Given the description of an element on the screen output the (x, y) to click on. 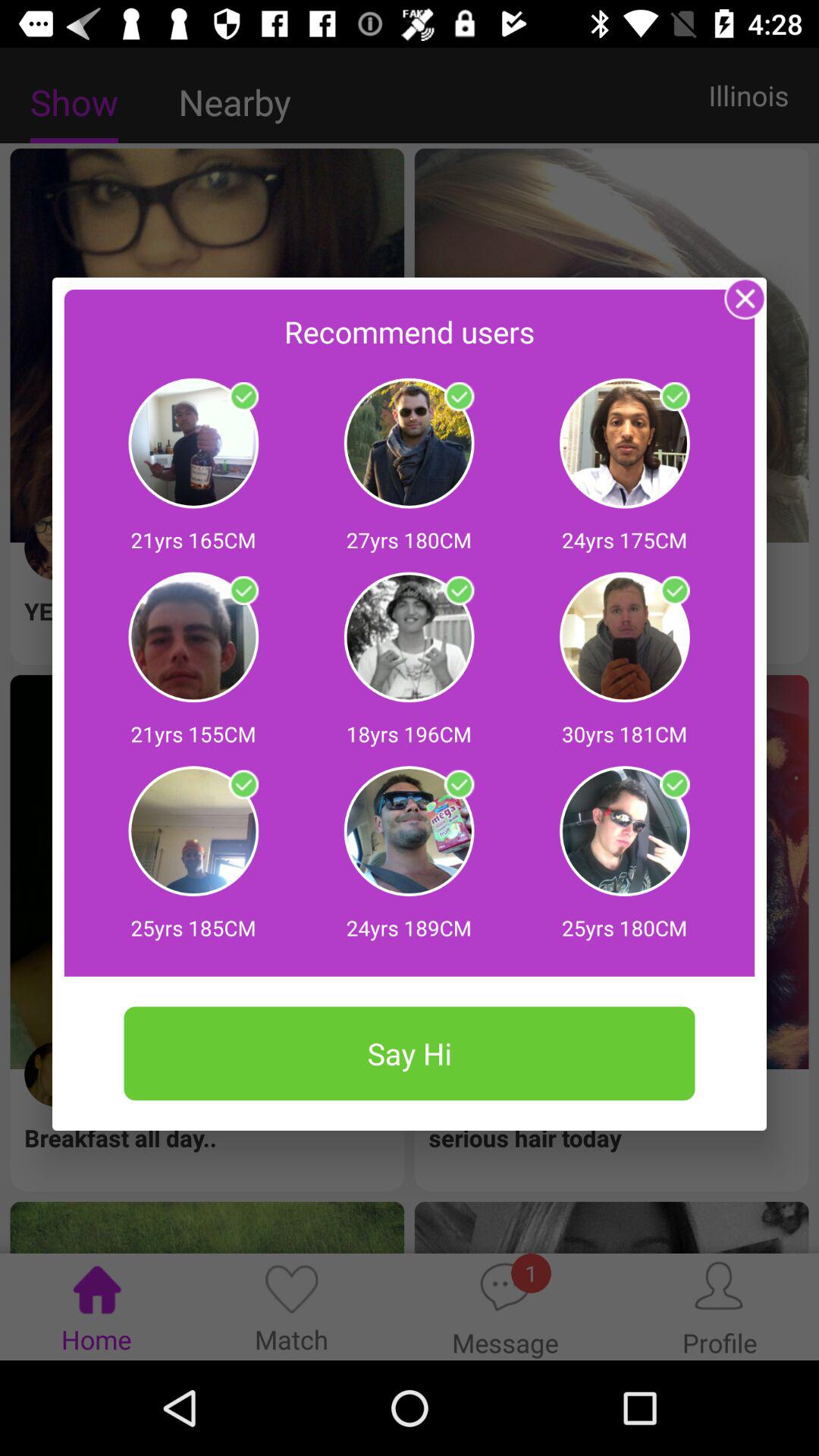
go to tick (674, 590)
